Given the description of an element on the screen output the (x, y) to click on. 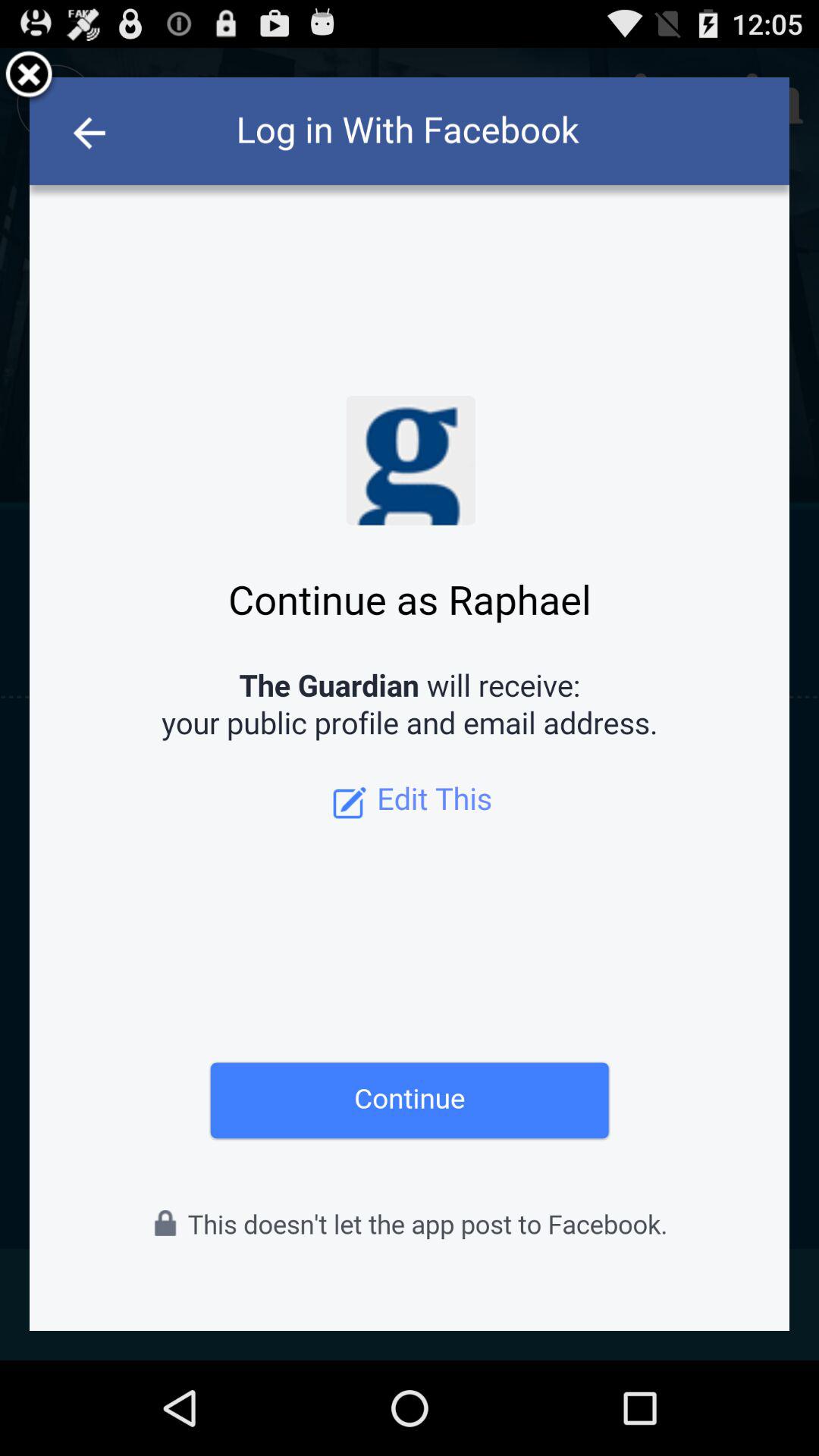
guardian login (409, 703)
